Given the description of an element on the screen output the (x, y) to click on. 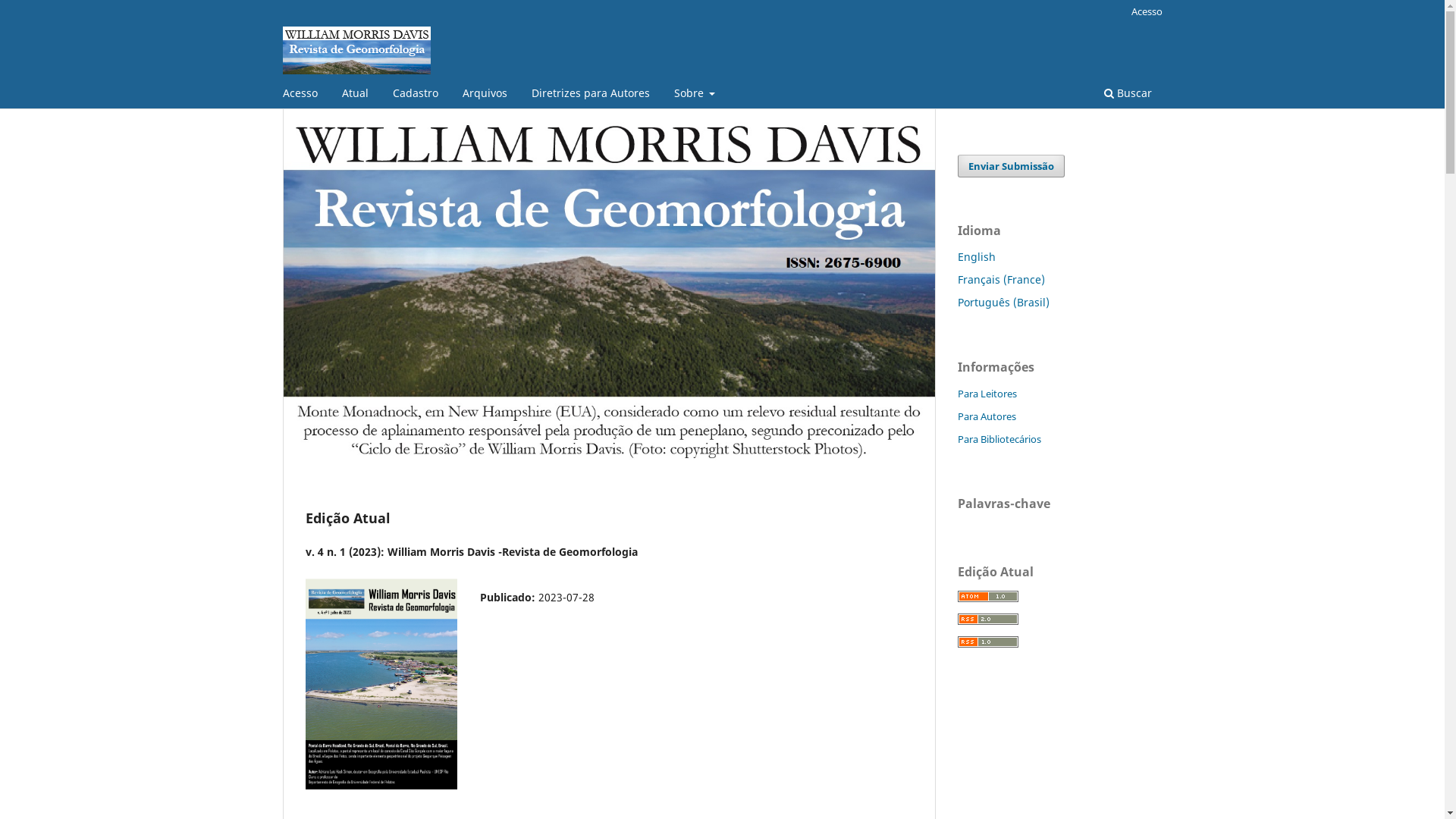
Para Leitores Element type: text (986, 393)
Diretrizes para Autores Element type: text (590, 94)
Acesso Element type: text (1146, 11)
Atual Element type: text (354, 94)
Para Autores Element type: text (986, 416)
English Element type: text (975, 256)
Acesso Element type: text (300, 94)
Cadastro Element type: text (414, 94)
Sobre Element type: text (694, 94)
Arquivos Element type: text (483, 94)
Buscar Element type: text (1127, 94)
